Given the description of an element on the screen output the (x, y) to click on. 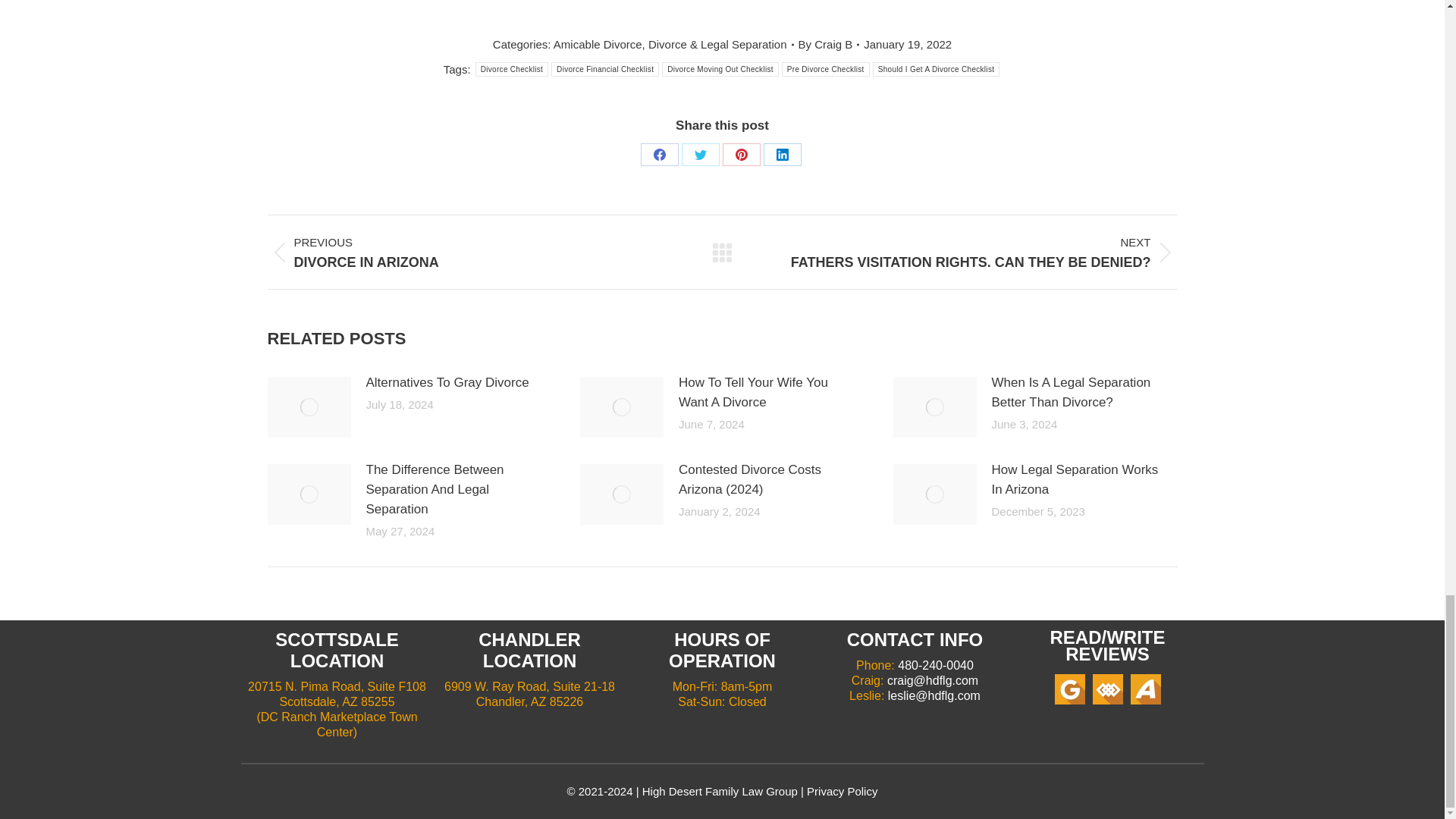
View all posts by Craig B (828, 44)
Facebook (659, 154)
Twitter (700, 154)
Pinterest (741, 154)
3:00 pm (907, 44)
LinkedIn (781, 154)
